Given the description of an element on the screen output the (x, y) to click on. 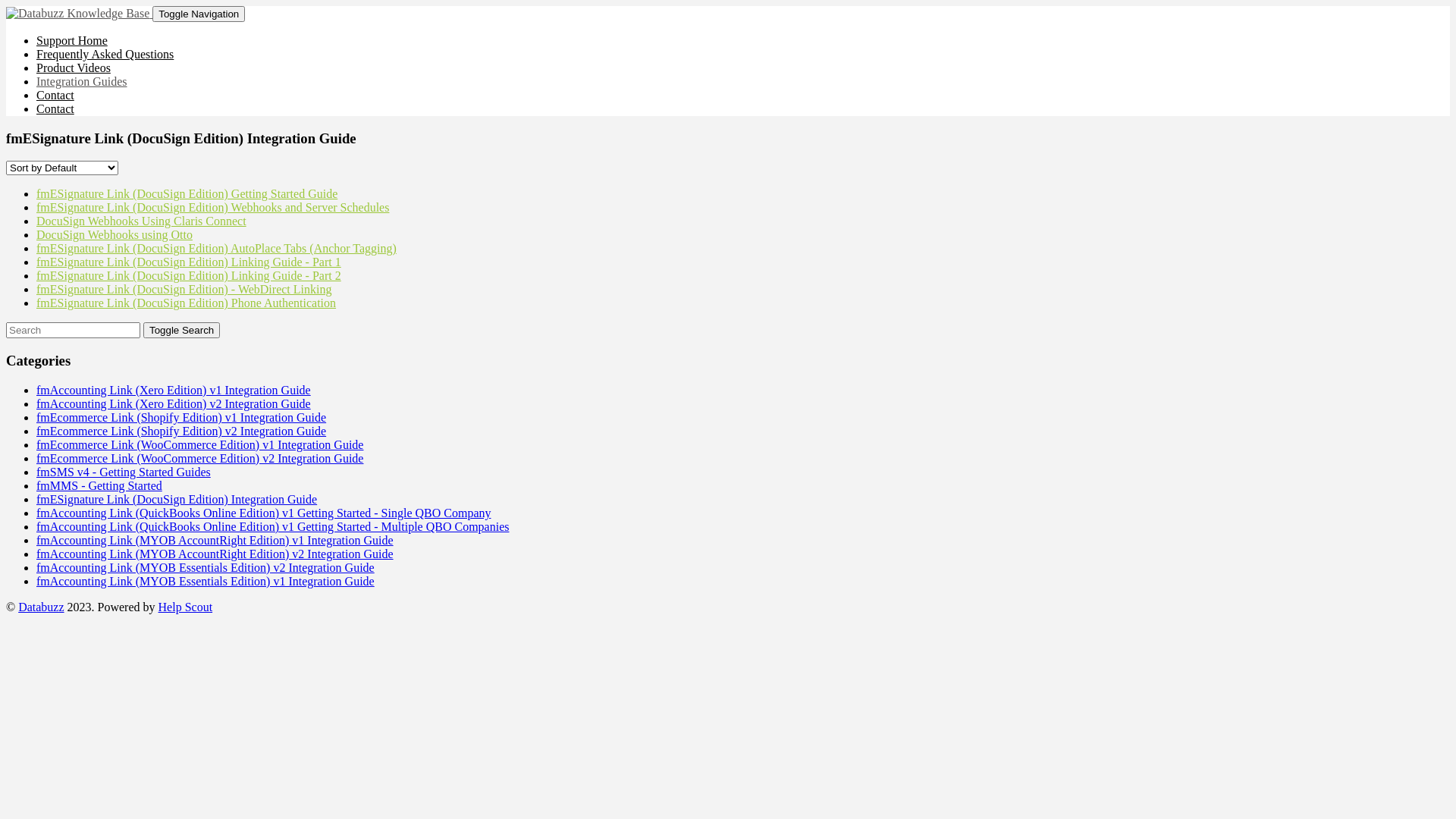
search-query Element type: hover (73, 330)
Toggle Navigation Element type: text (198, 13)
fmEcommerce Link (Shopify Edition) v1 Integration Guide Element type: text (181, 417)
fmESignature Link (DocuSign Edition) Linking Guide - Part 1 Element type: text (188, 261)
Product Videos Element type: text (73, 67)
Contact Element type: text (55, 108)
Integration Guides Element type: text (81, 81)
fmAccounting Link (Xero Edition) v1 Integration Guide Element type: text (173, 389)
Contact Element type: text (55, 94)
Frequently Asked Questions Element type: text (104, 53)
Databuzz Element type: text (40, 606)
fmEcommerce Link (Shopify Edition) v2 Integration Guide Element type: text (181, 430)
fmESignature Link (DocuSign Edition) Linking Guide - Part 2 Element type: text (188, 275)
DocuSign Webhooks Using Claris Connect Element type: text (141, 220)
Toggle Search Element type: text (181, 330)
fmESignature Link (DocuSign Edition) Getting Started Guide Element type: text (186, 193)
fmSMS v4 - Getting Started Guides Element type: text (123, 471)
fmESignature Link (DocuSign Edition) Phone Authentication Element type: text (185, 302)
fmEcommerce Link (WooCommerce Edition) v1 Integration Guide Element type: text (199, 444)
Support Home Element type: text (71, 40)
fmESignature Link (DocuSign Edition) Integration Guide Element type: text (176, 498)
DocuSign Webhooks using Otto Element type: text (114, 234)
fmMMS - Getting Started Element type: text (99, 485)
Help Scout Element type: text (185, 606)
fmAccounting Link (Xero Edition) v2 Integration Guide Element type: text (173, 403)
fmESignature Link (DocuSign Edition) - WebDirect Linking Element type: text (183, 288)
fmEcommerce Link (WooCommerce Edition) v2 Integration Guide Element type: text (199, 457)
